Given the description of an element on the screen output the (x, y) to click on. 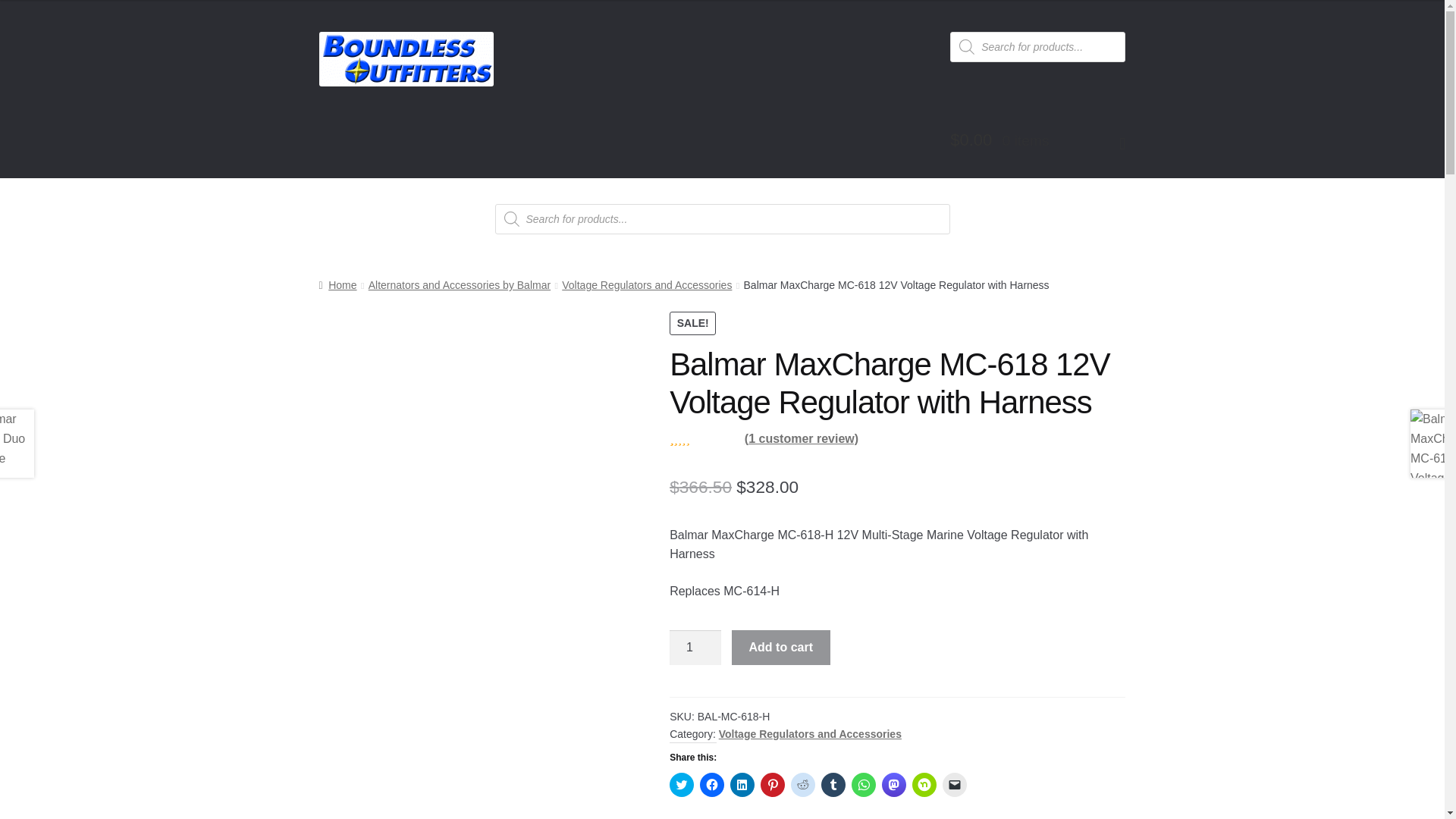
Click to email a link to a friend (954, 784)
Click to share on Twitter (681, 784)
Alternators and Accessories by Balmar (459, 285)
Click to share on Nextdoor (924, 784)
Click to share on WhatsApp (863, 784)
View your shopping cart (1037, 140)
Click to share on Facebook (711, 784)
Voltage Regulators and Accessories (810, 734)
Click to share on Tumblr (833, 784)
1 (694, 647)
Click to share on Mastodon (893, 784)
Voltage Regulators and Accessories (647, 285)
Click to share on Reddit (802, 784)
Add to cart (780, 647)
Click to share on Pinterest (772, 784)
